Given the description of an element on the screen output the (x, y) to click on. 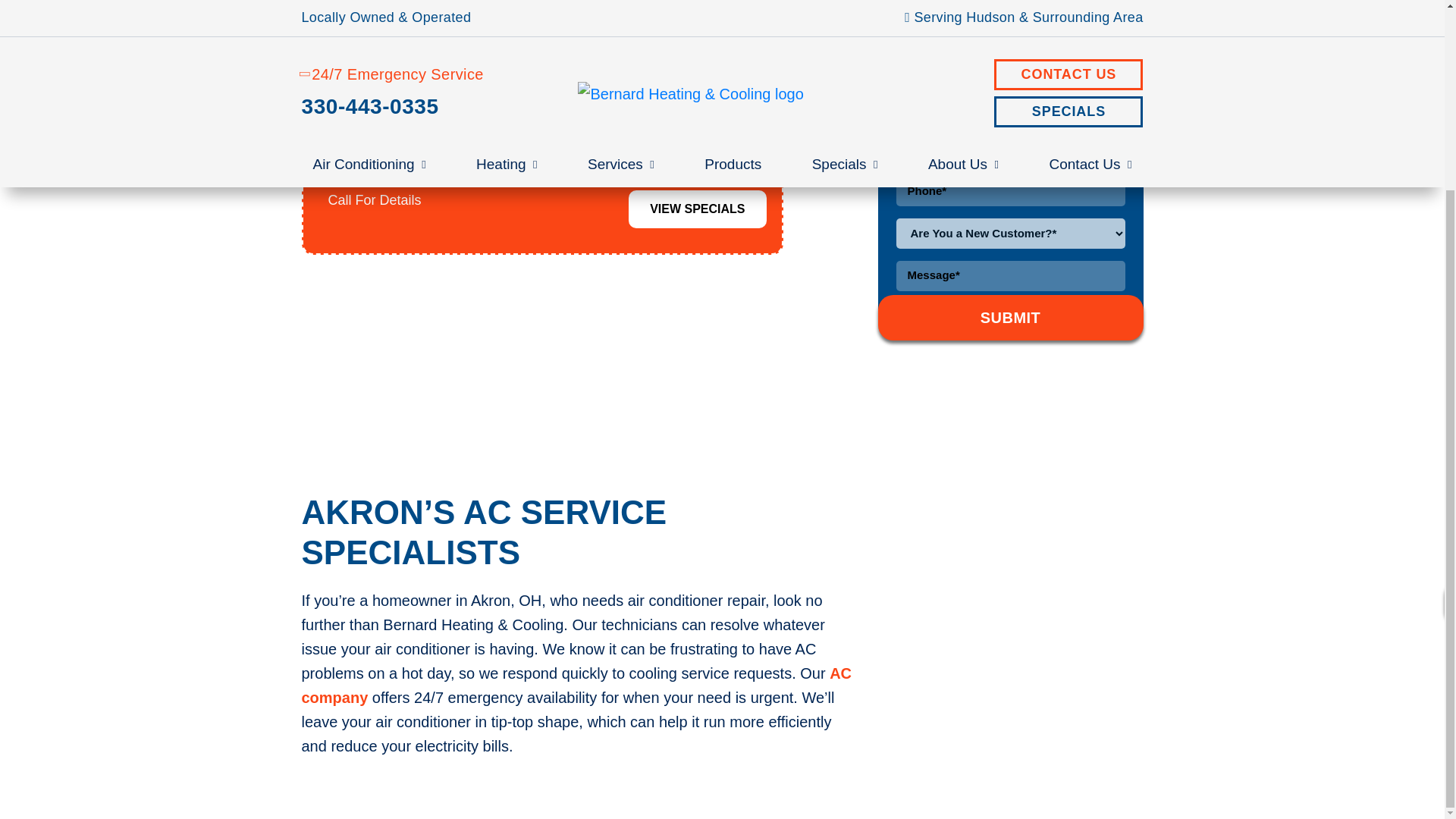
Submit (1009, 317)
VIEW SPECIALS (696, 209)
Submit (1009, 317)
AC company (576, 685)
